Given the description of an element on the screen output the (x, y) to click on. 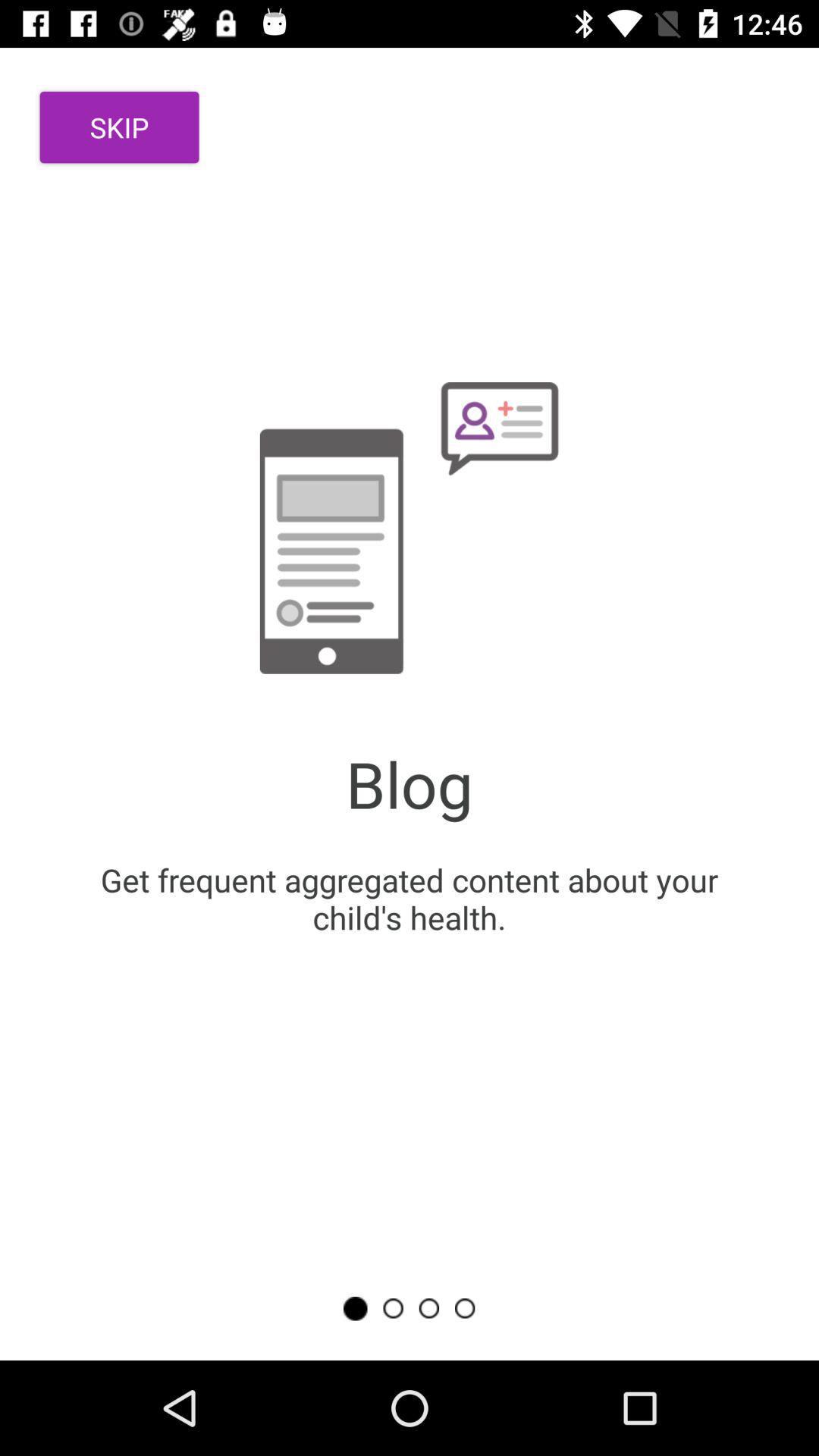
tap the icon above the get frequent aggregated item (119, 127)
